Given the description of an element on the screen output the (x, y) to click on. 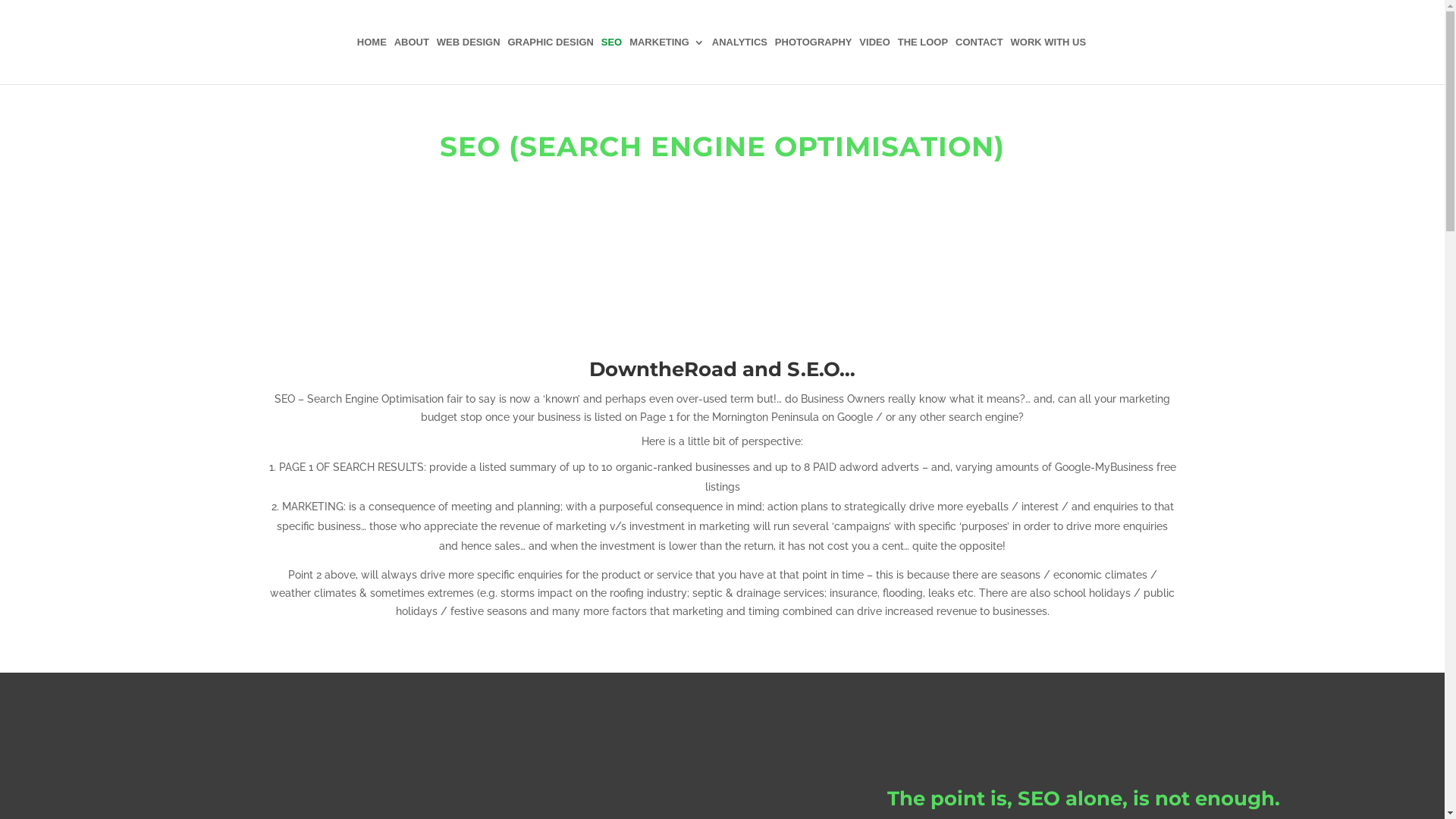
VIDEO Element type: text (874, 60)
PHOTOGRAPHY Element type: text (813, 60)
HOME Element type: text (371, 60)
MARKETING Element type: text (666, 60)
ABOUT Element type: text (411, 60)
THE LOOP Element type: text (922, 60)
GRAPHIC DESIGN Element type: text (550, 60)
SEO Element type: text (611, 60)
WORK WITH US Element type: text (1048, 60)
ANALYTICS Element type: text (739, 60)
CONTACT Element type: text (979, 60)
WEB DESIGN Element type: text (468, 60)
